Given the description of an element on the screen output the (x, y) to click on. 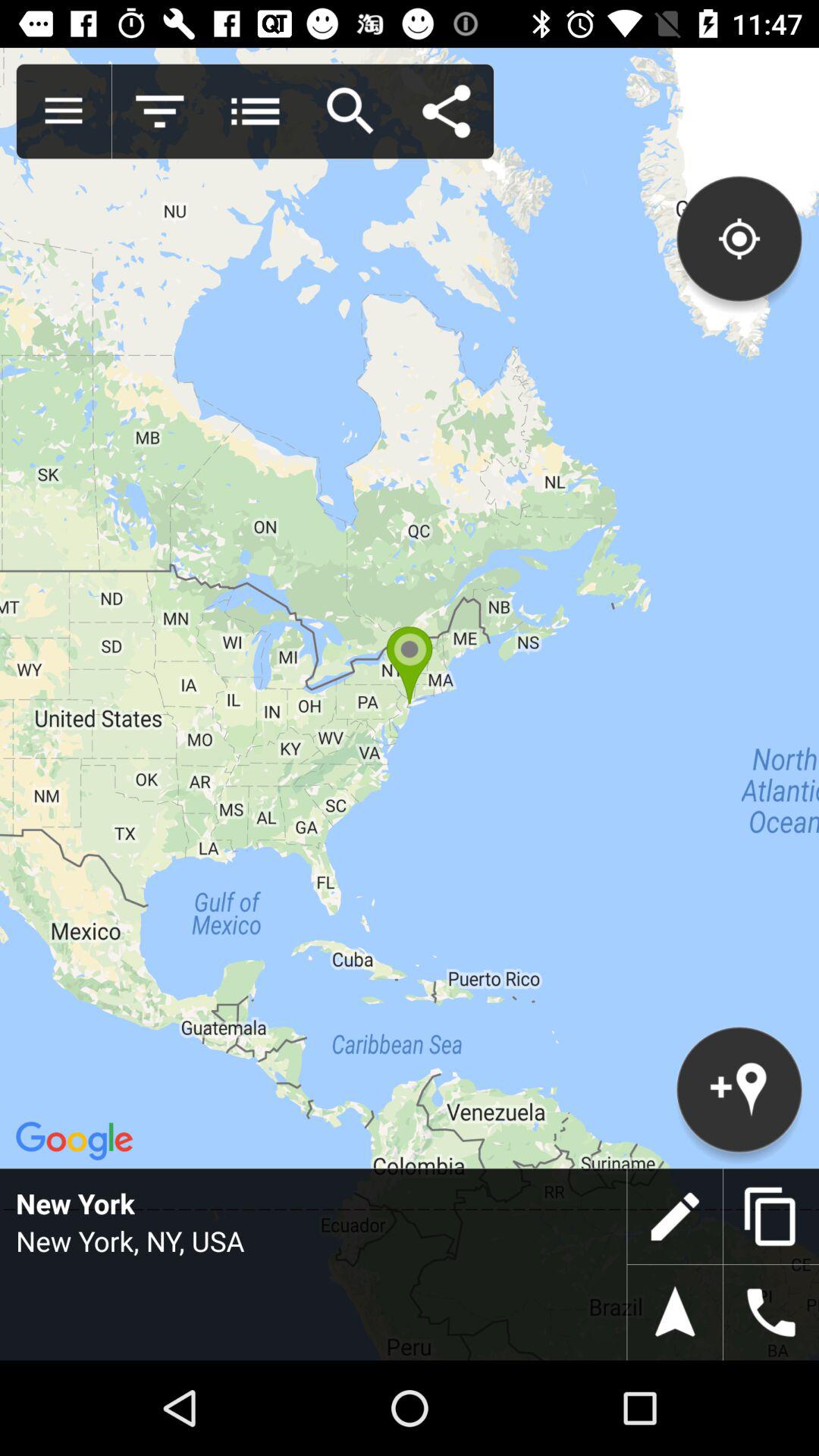
select bullet-points (255, 111)
